Given the description of an element on the screen output the (x, y) to click on. 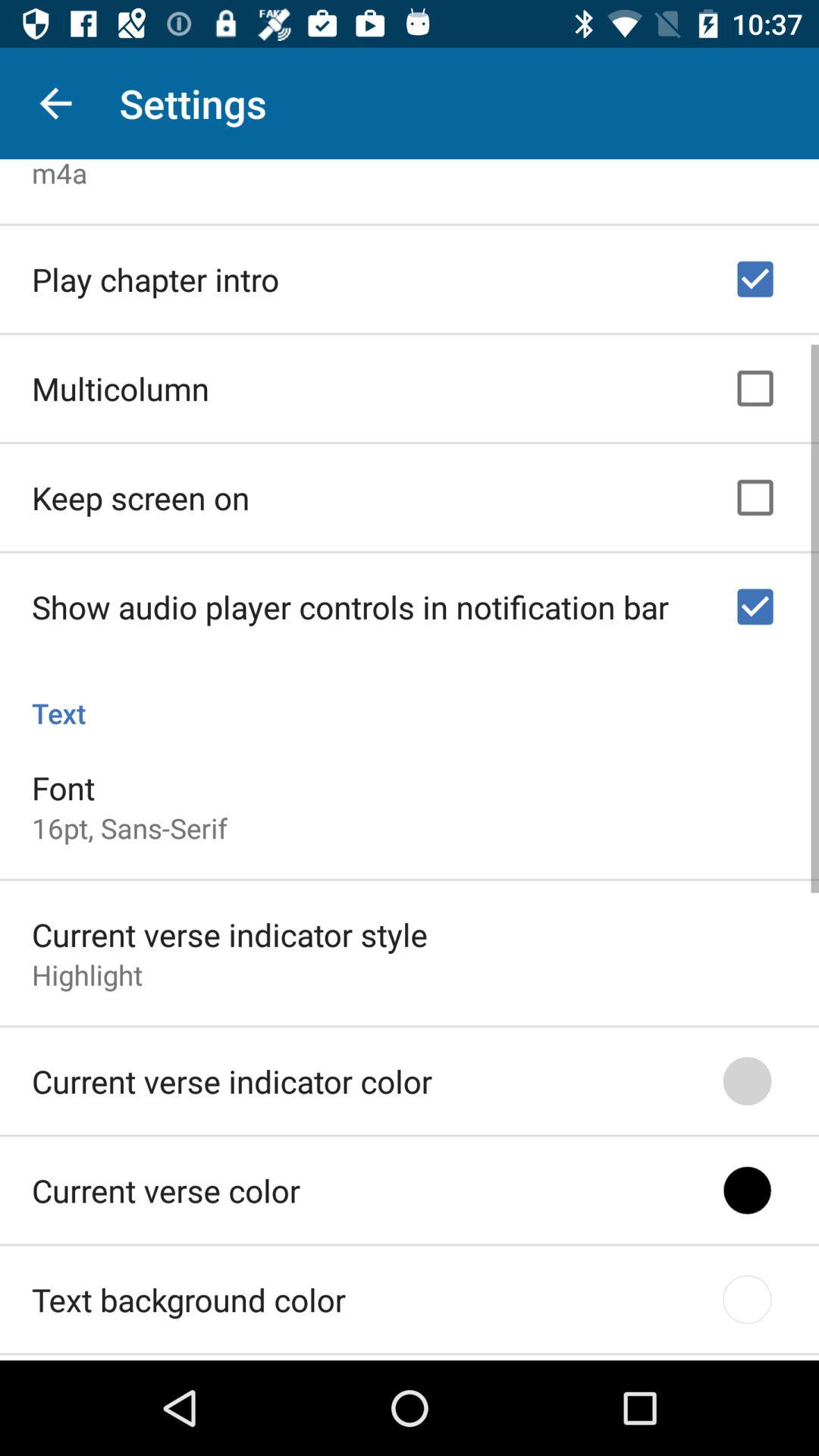
tap the app to the left of the settings icon (55, 103)
